Given the description of an element on the screen output the (x, y) to click on. 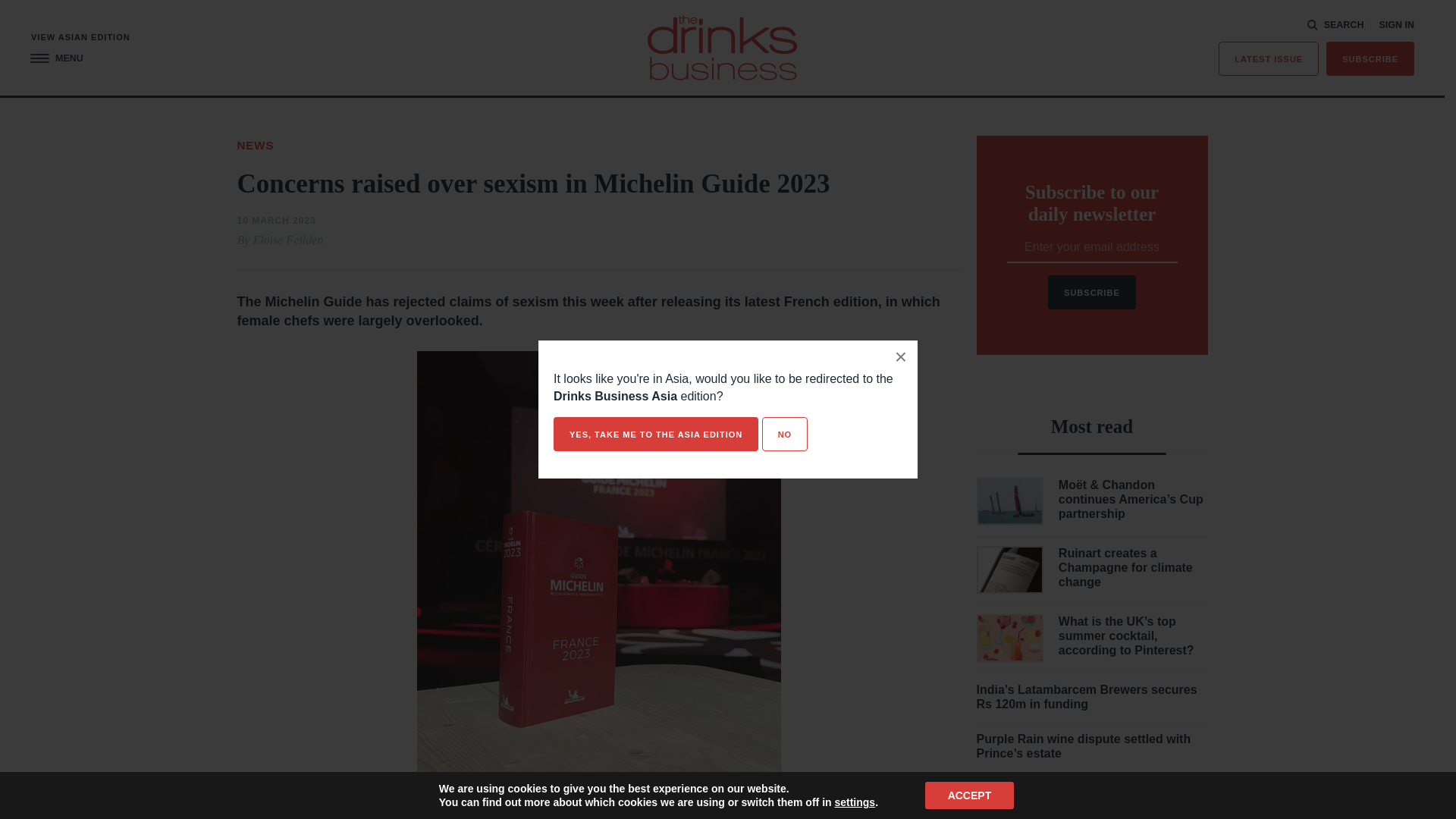
VIEW ASIAN EDITION (80, 37)
LATEST ISSUE (1268, 58)
NO (784, 433)
YES, TAKE ME TO THE ASIA EDITION (655, 433)
SIGN IN (1395, 25)
The Drinks Business (721, 47)
SUBSCRIBE (1369, 58)
